Given the description of an element on the screen output the (x, y) to click on. 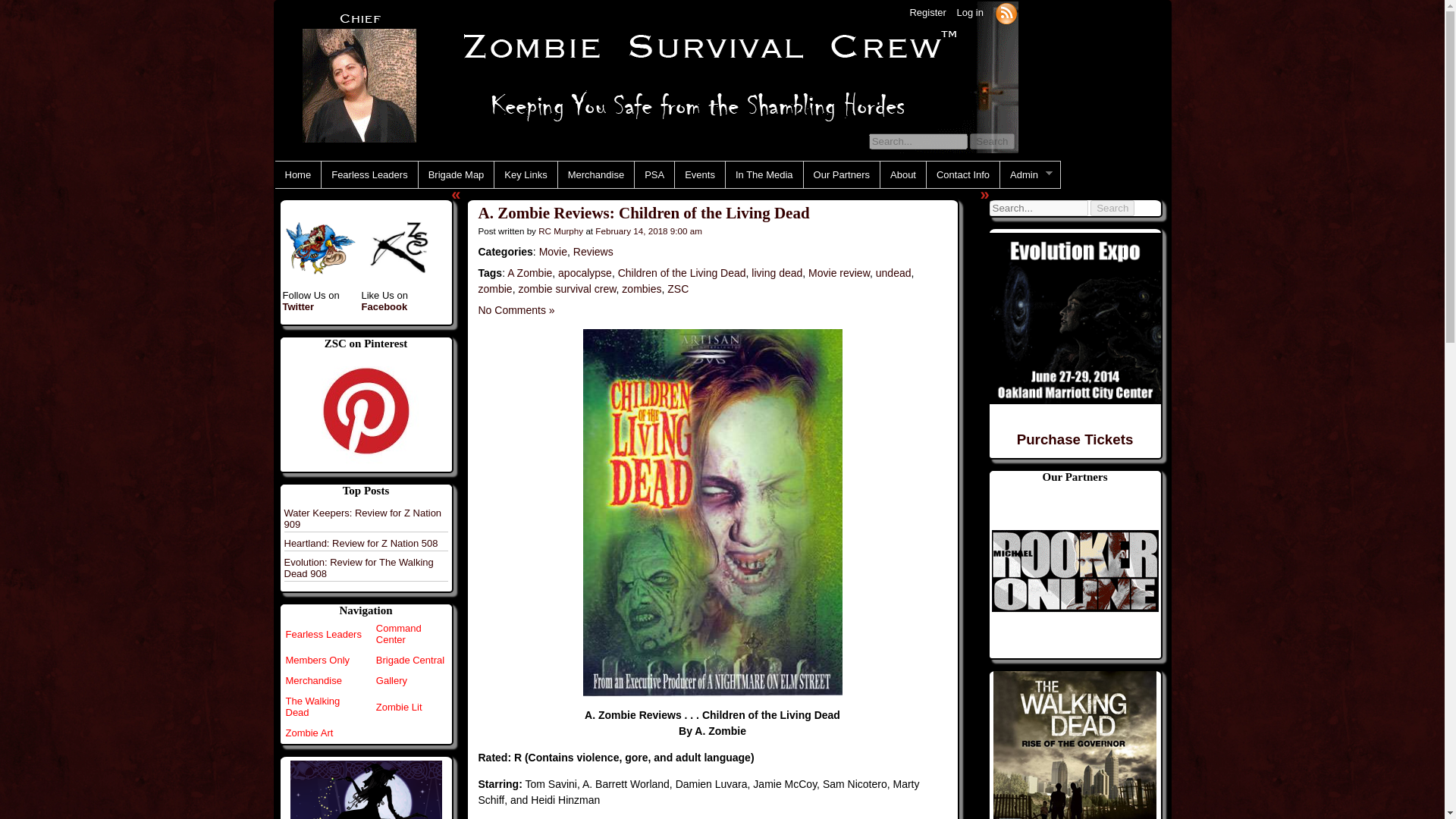
Search (991, 141)
Zombie Art (309, 732)
Merchandise (595, 174)
Contact Info (962, 174)
Command Center (398, 633)
PSA (654, 174)
Zombie Lit (398, 706)
Water Keepers: Review for Z Nation 909 (362, 517)
Home (297, 174)
Partners (1074, 569)
Fearless Leaders (323, 633)
Search (1112, 207)
Posts of the February 14, 2018 (648, 230)
Twitter (298, 306)
Heartland: Review for Z Nation 508 (360, 542)
